Given the description of an element on the screen output the (x, y) to click on. 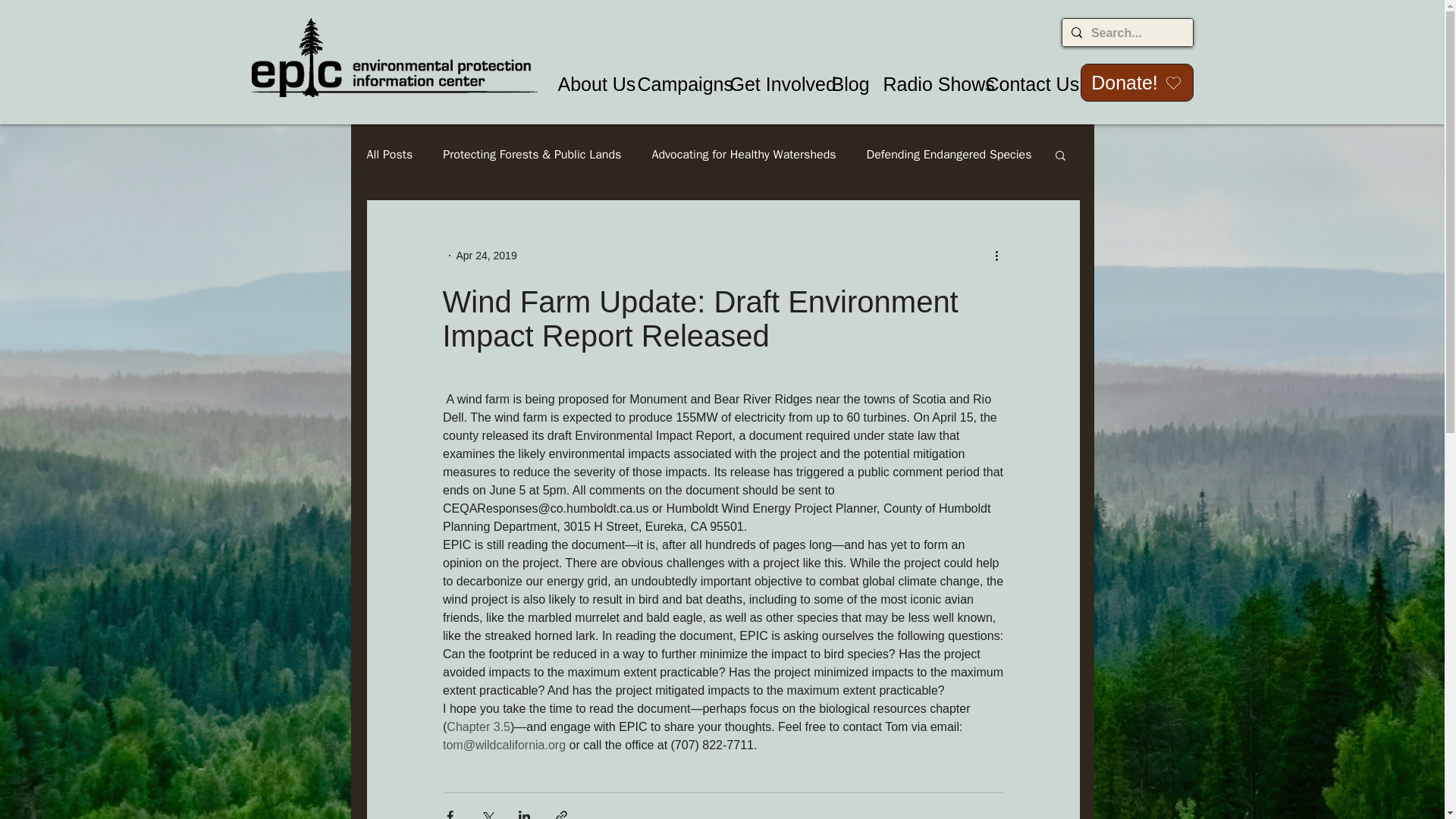
All Posts (389, 154)
Donate! (1136, 82)
Defending Endangered Species (949, 154)
Contact Us (1019, 84)
Blog (846, 84)
Campaigns (672, 84)
Get Involved (770, 84)
Radio Shows (923, 84)
Advocating for Healthy Watersheds (742, 154)
Apr 24, 2019 (486, 254)
